Given the description of an element on the screen output the (x, y) to click on. 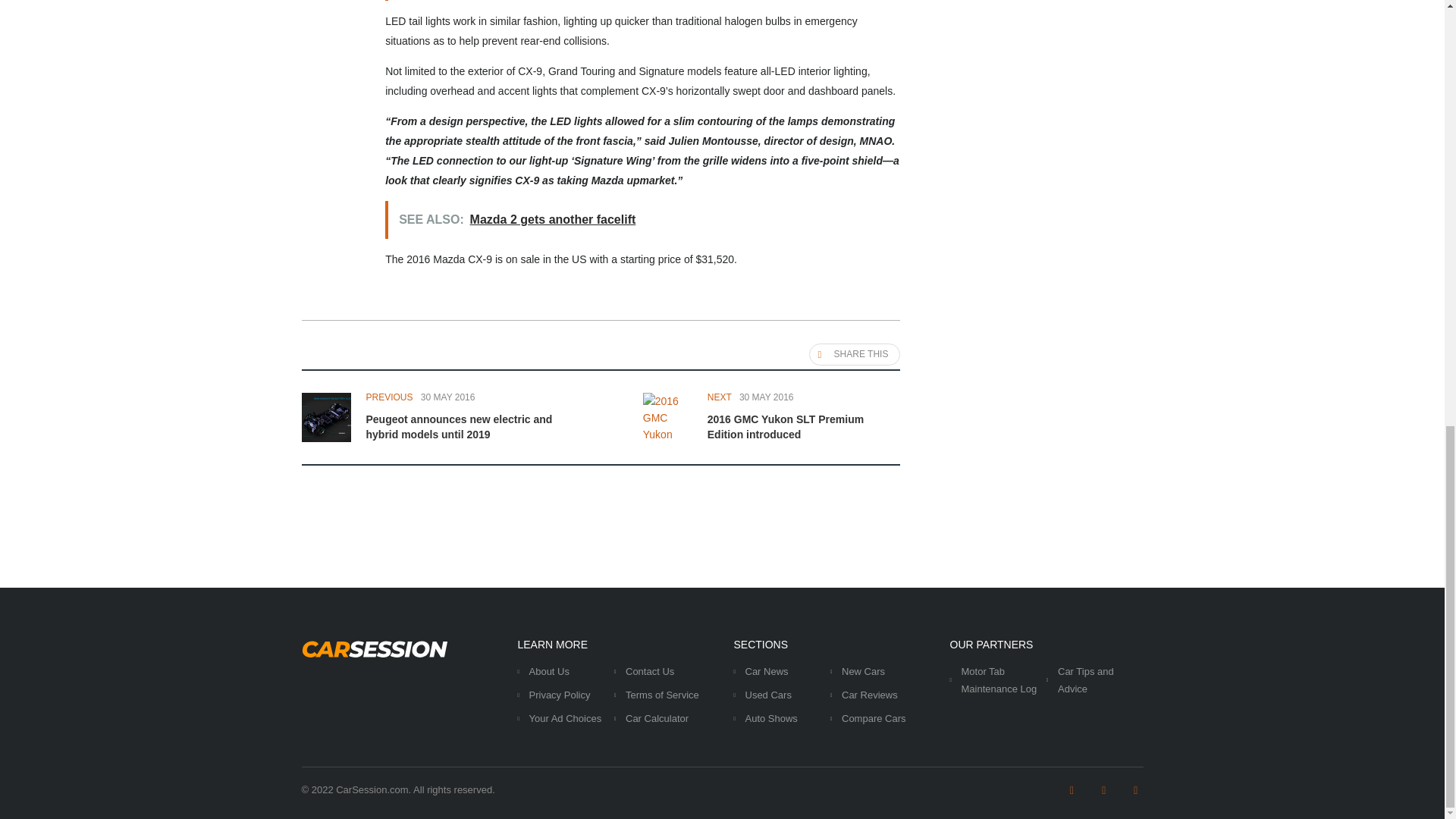
New Cars (863, 671)
Privacy Policy (560, 695)
About Us (549, 671)
Share this (855, 354)
Car Tips and Advice (1085, 679)
Car News (765, 671)
Car Calculator (657, 717)
SEE ALSO:  Mazda 2 gets another facelift (642, 219)
SHARE THIS (855, 354)
Contact Us (650, 671)
Car Reviews (869, 695)
Your Ad Choices (565, 717)
